Given the description of an element on the screen output the (x, y) to click on. 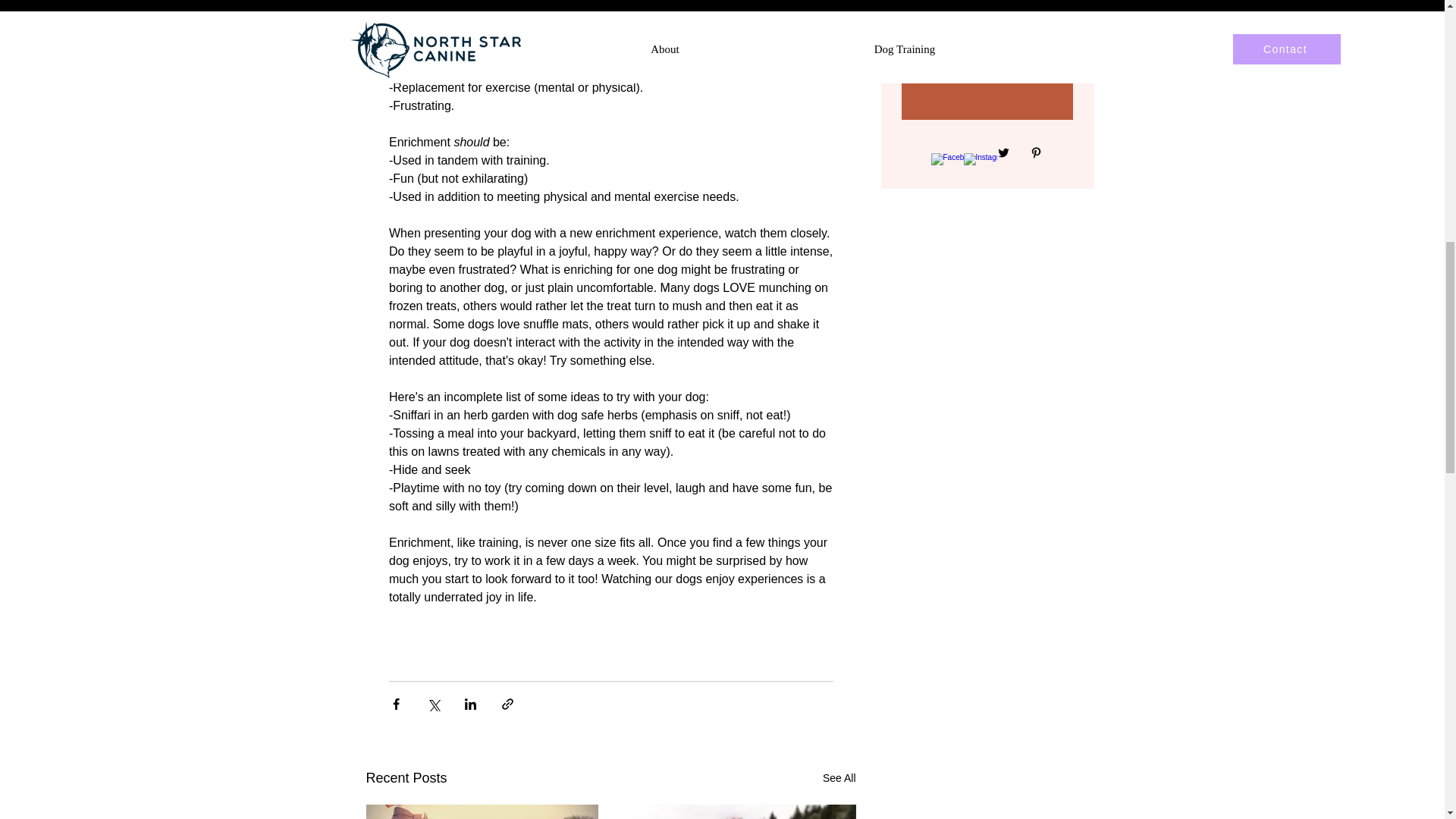
Subscribe (986, 45)
See All (839, 778)
